Given the description of an element on the screen output the (x, y) to click on. 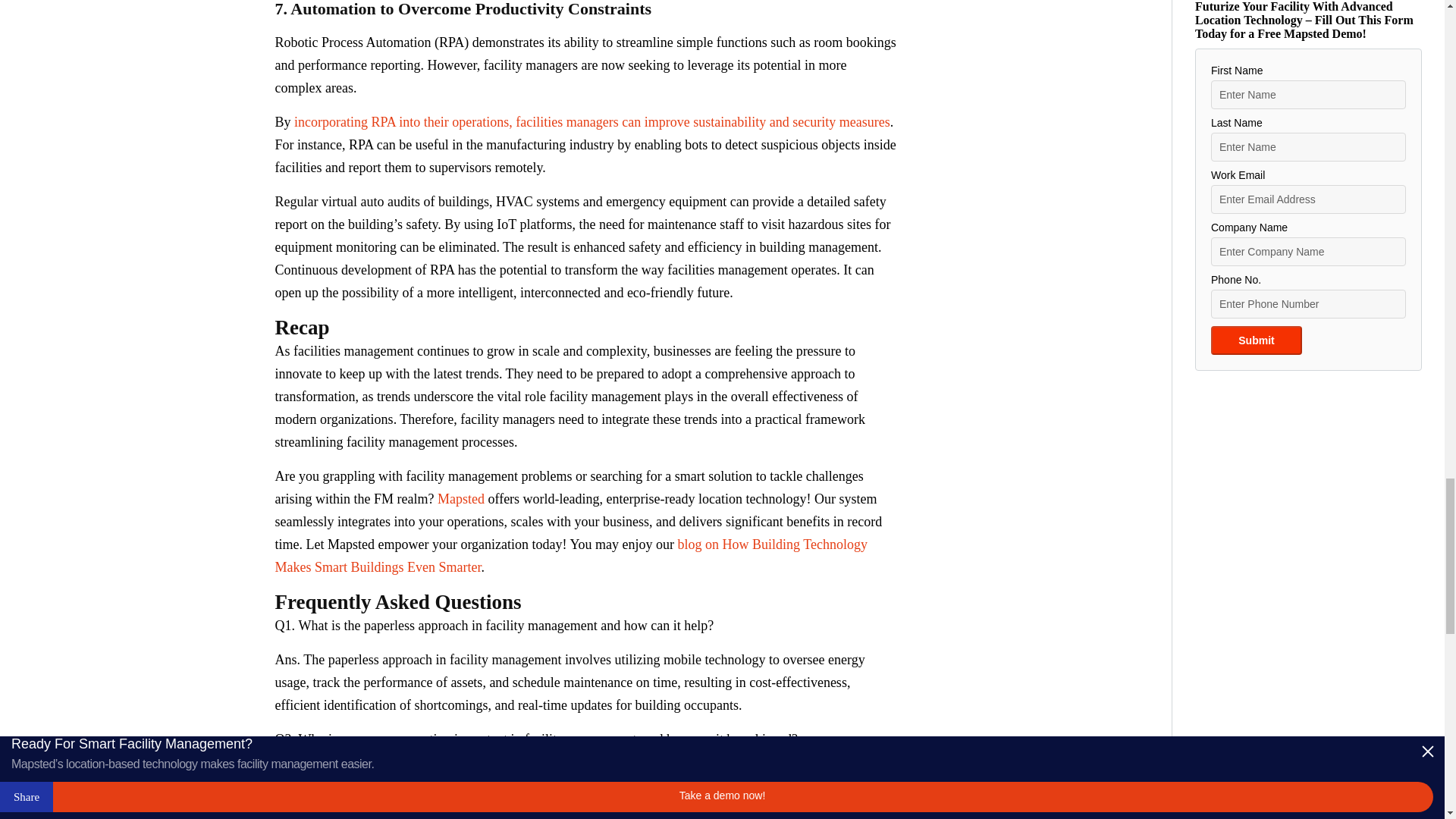
Mapsted (461, 498)
